Given the description of an element on the screen output the (x, y) to click on. 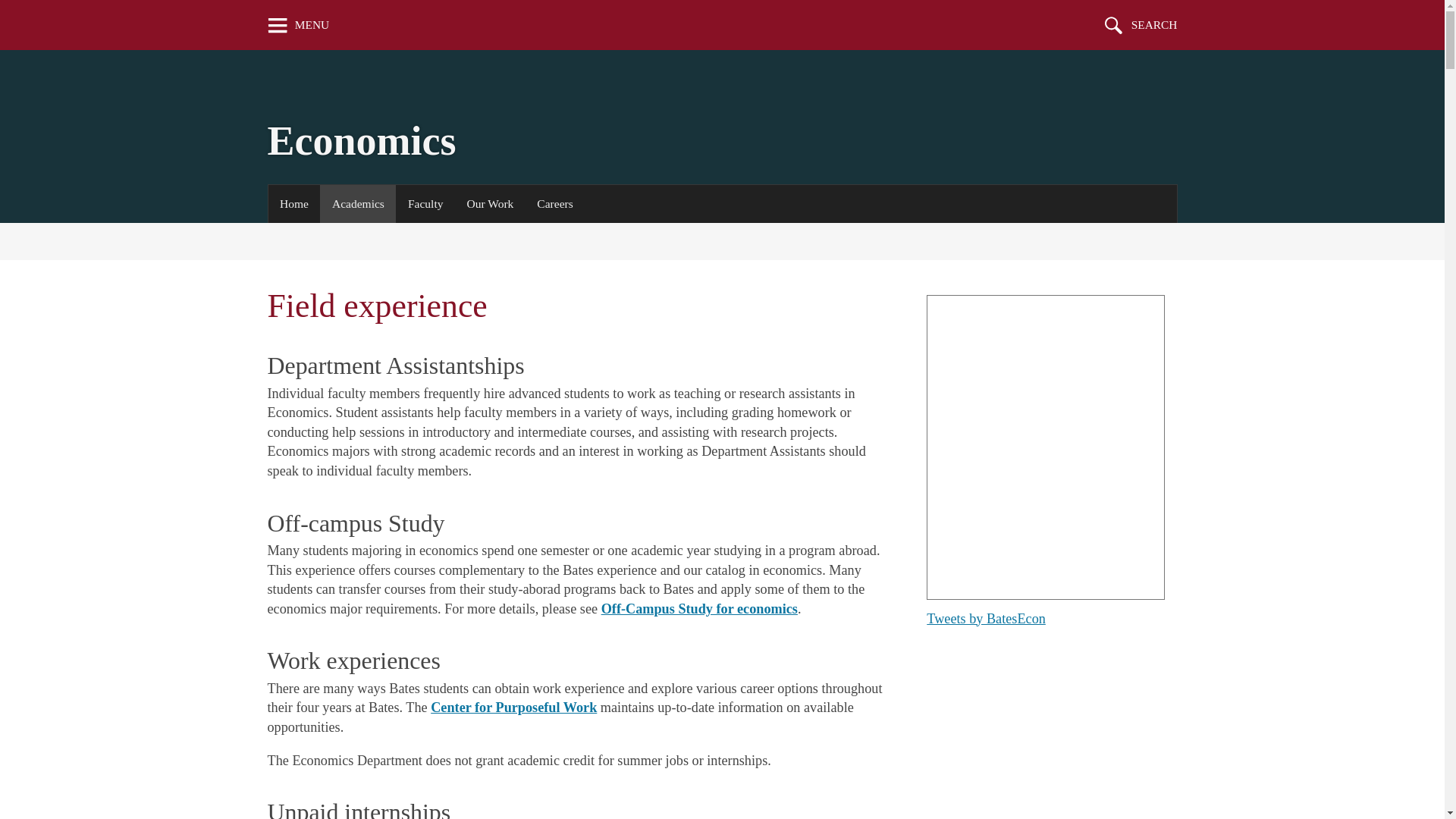
Bates wordmark (717, 24)
MENU (298, 24)
Academics (358, 203)
Economics (360, 140)
SEARCH (1141, 24)
Home (293, 203)
